Given the description of an element on the screen output the (x, y) to click on. 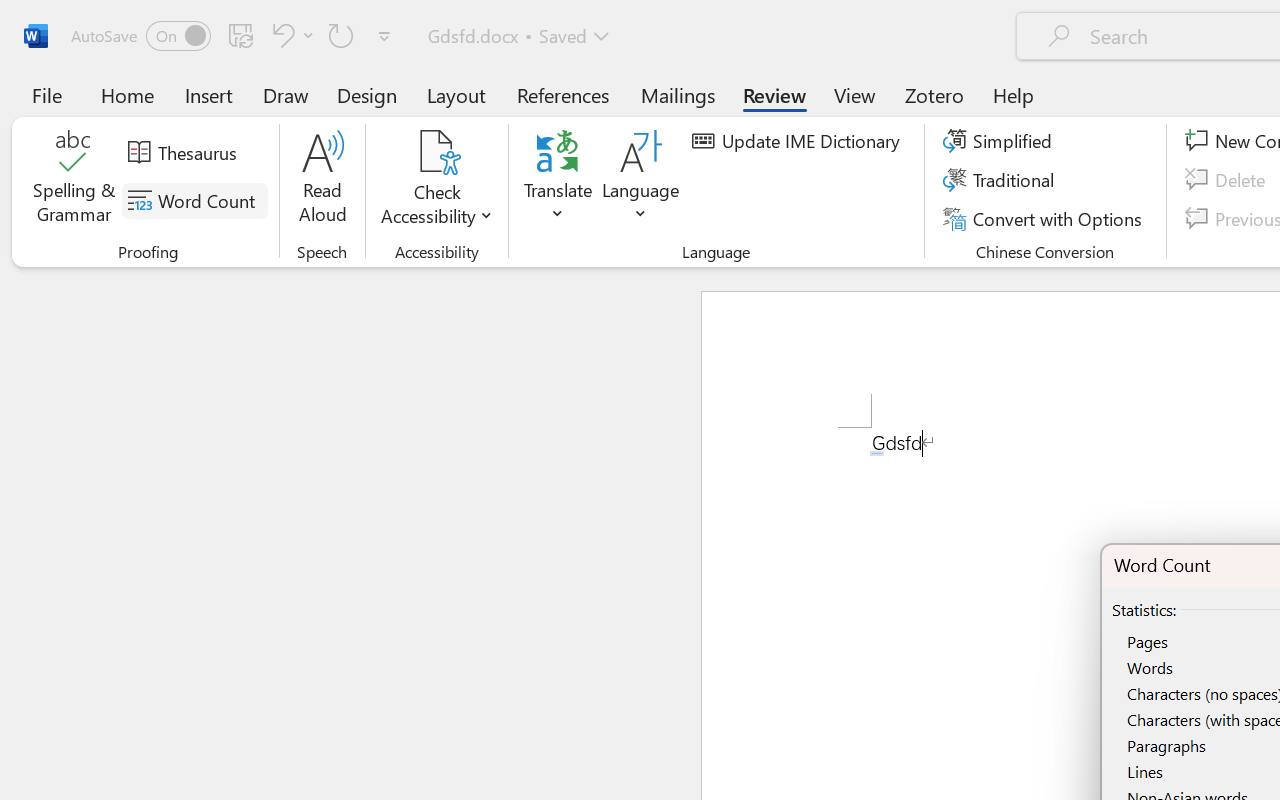
Can't Repeat (341, 35)
Undo AutoCorrect (280, 35)
Thesaurus... (185, 153)
Update IME Dictionary... (799, 141)
Check Accessibility (436, 179)
Read Aloud (322, 179)
Simplified (1000, 141)
